Given the description of an element on the screen output the (x, y) to click on. 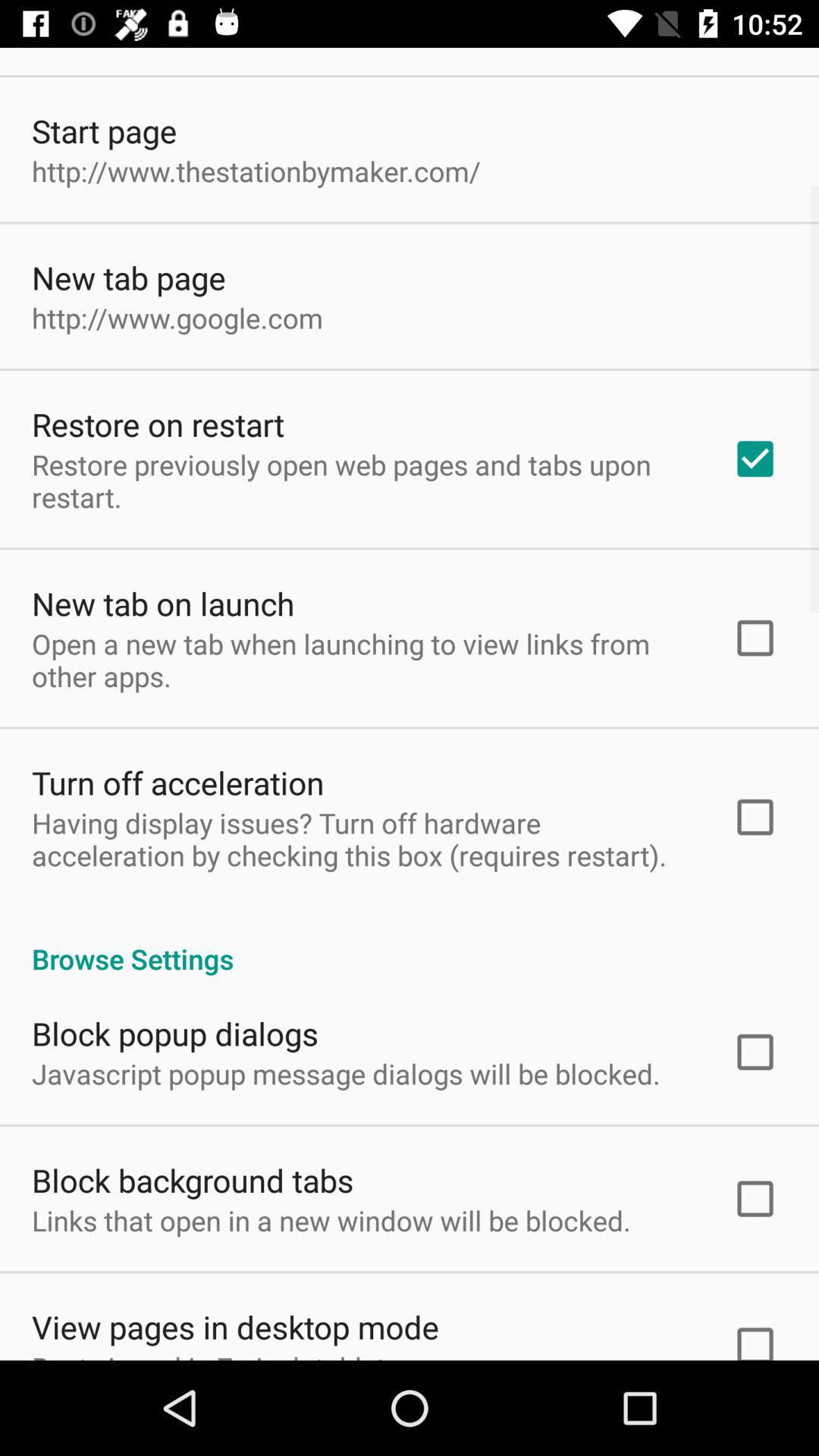
press best viewed in icon (219, 1354)
